Given the description of an element on the screen output the (x, y) to click on. 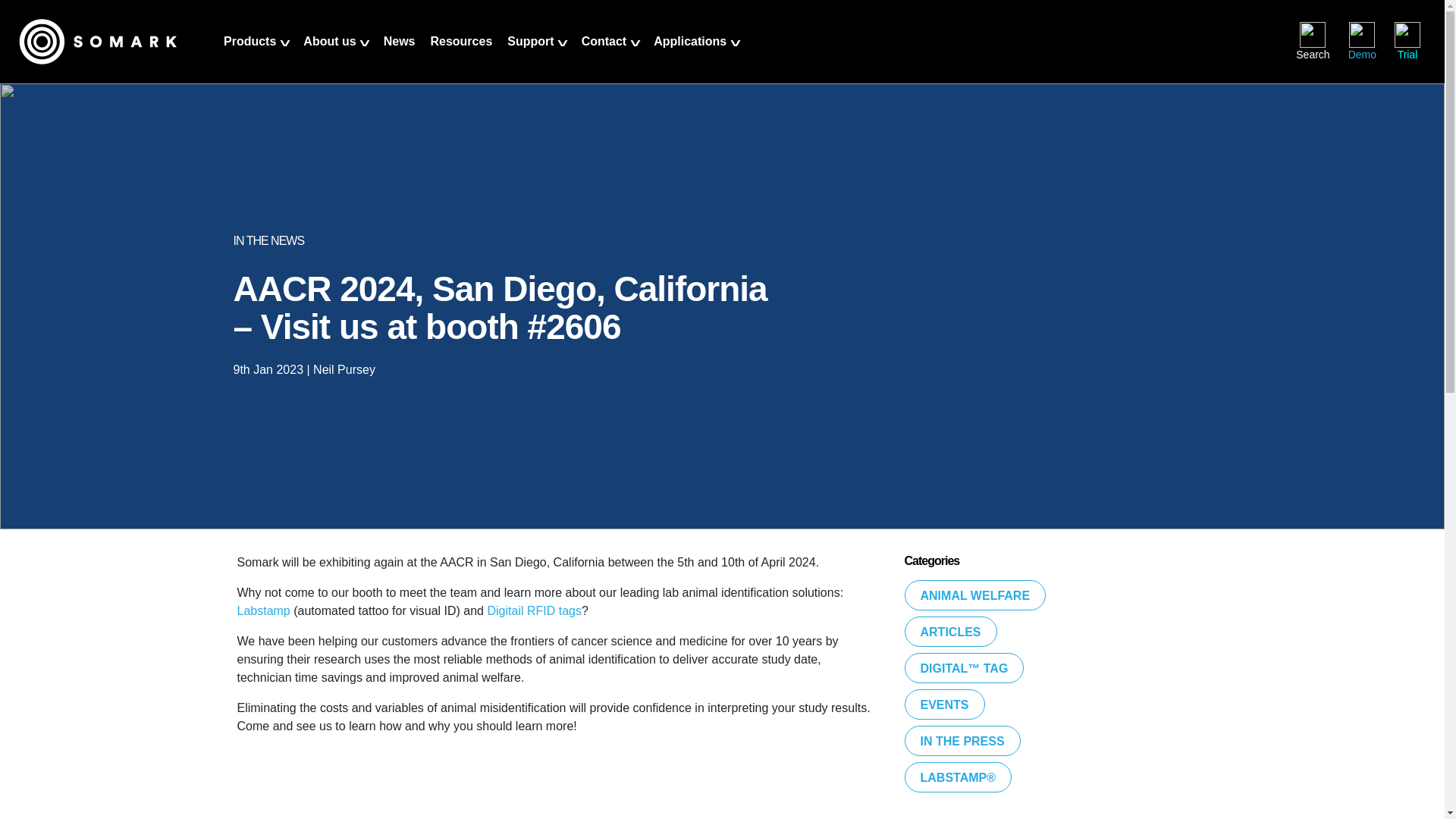
Support (536, 54)
Search (1312, 41)
Resources (460, 54)
Applications (695, 54)
Products (255, 54)
Contact (609, 54)
About us (335, 54)
